Given the description of an element on the screen output the (x, y) to click on. 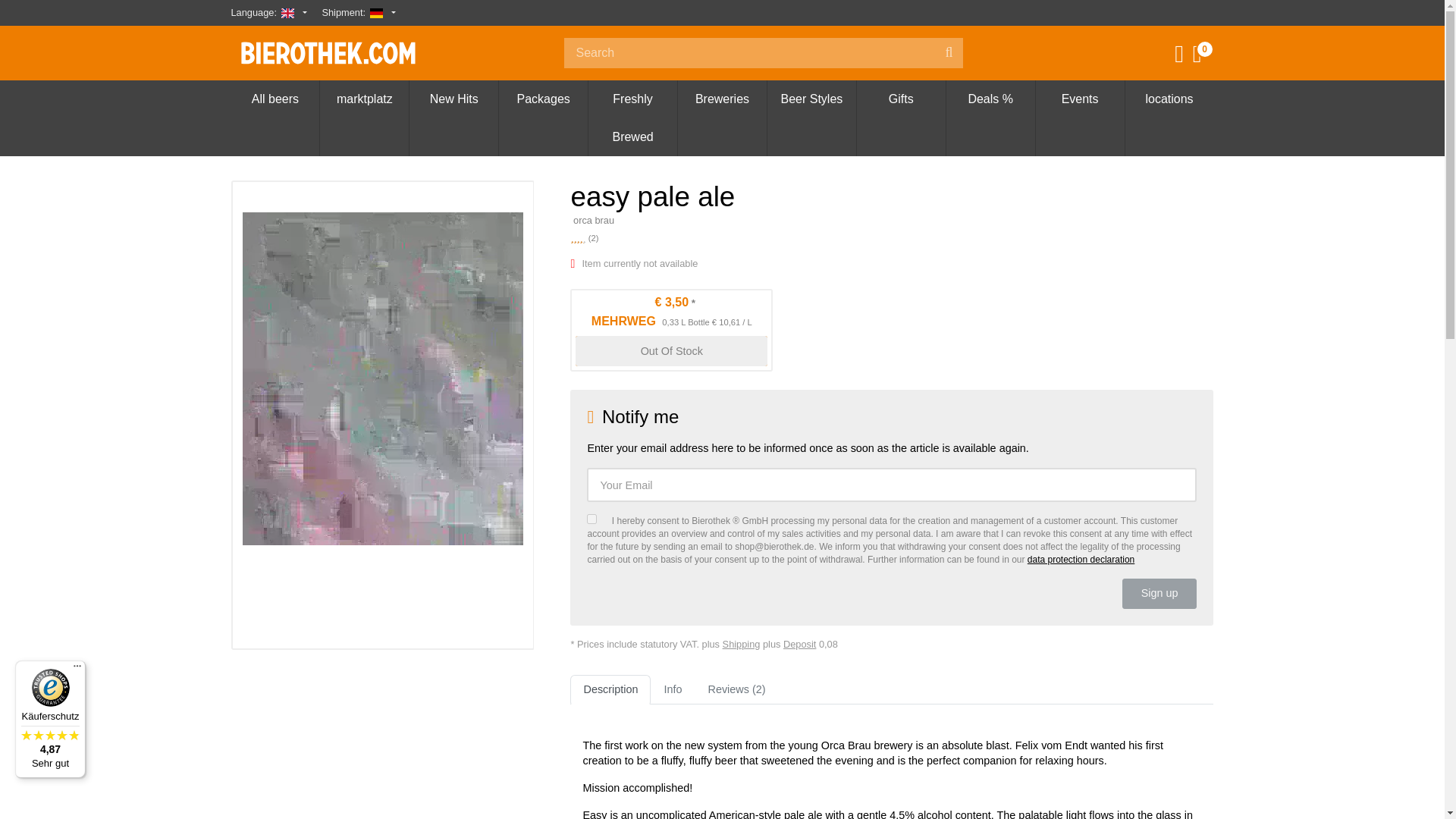
New Hits (453, 98)
Germany (375, 13)
0 (1207, 58)
Breweries (722, 98)
Die Bierothek (339, 52)
English (287, 13)
All beers (274, 98)
Packages (543, 98)
marktplatz (364, 98)
Beer Styles (811, 98)
Freshly Brewed (632, 118)
